Given the description of an element on the screen output the (x, y) to click on. 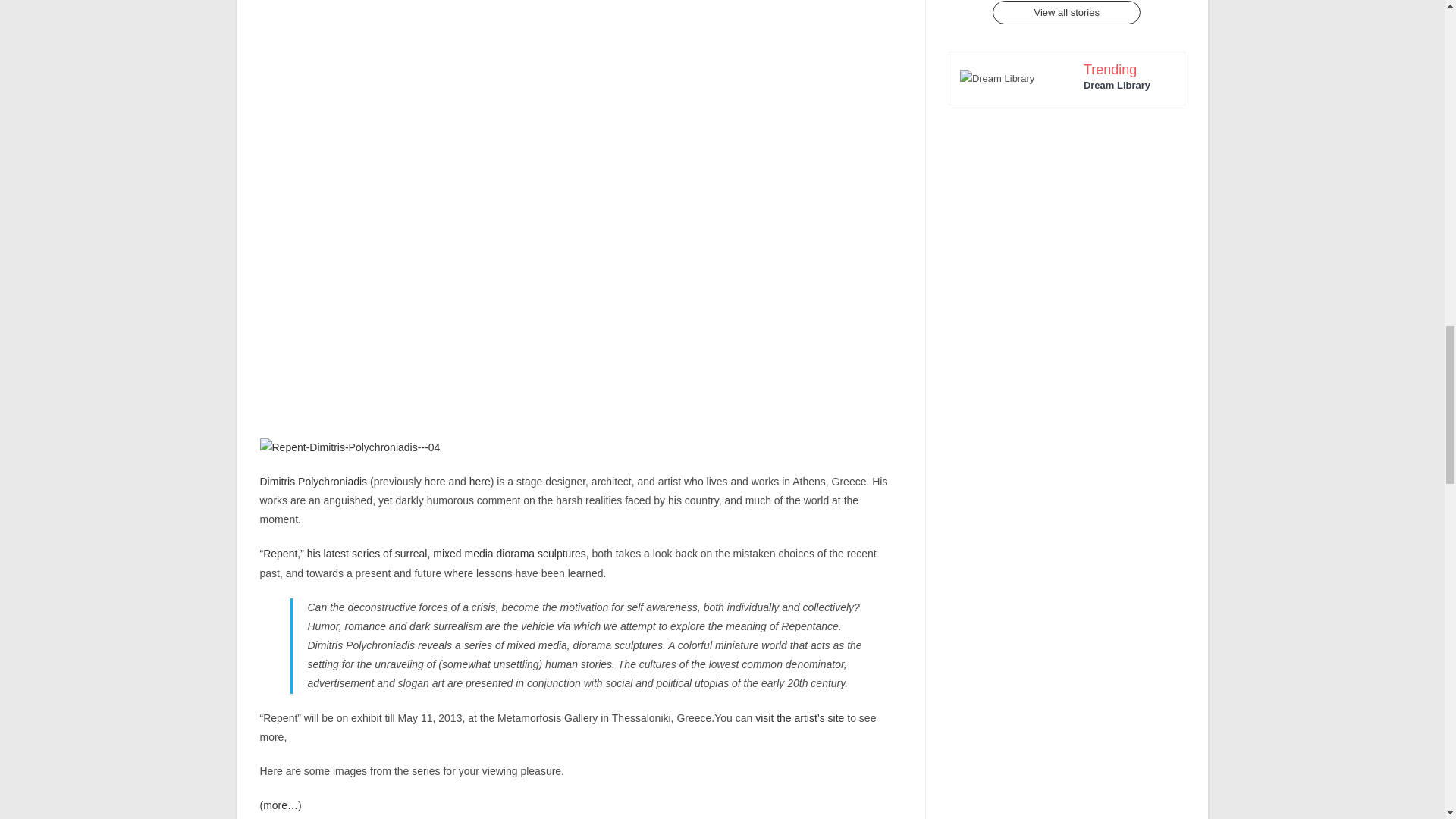
A Humorous Diorama of Athens Rocked by Protests (435, 481)
here (479, 481)
Dimitris Polychroniadis (312, 481)
Repent - Diorama Sculptures (422, 553)
Repent-Dimitris-Polychroniadis---04 (349, 447)
Dimitris Polychroniadis (312, 481)
here (435, 481)
Repent - Mixed Media Series of Dioramas (799, 717)
